Given the description of an element on the screen output the (x, y) to click on. 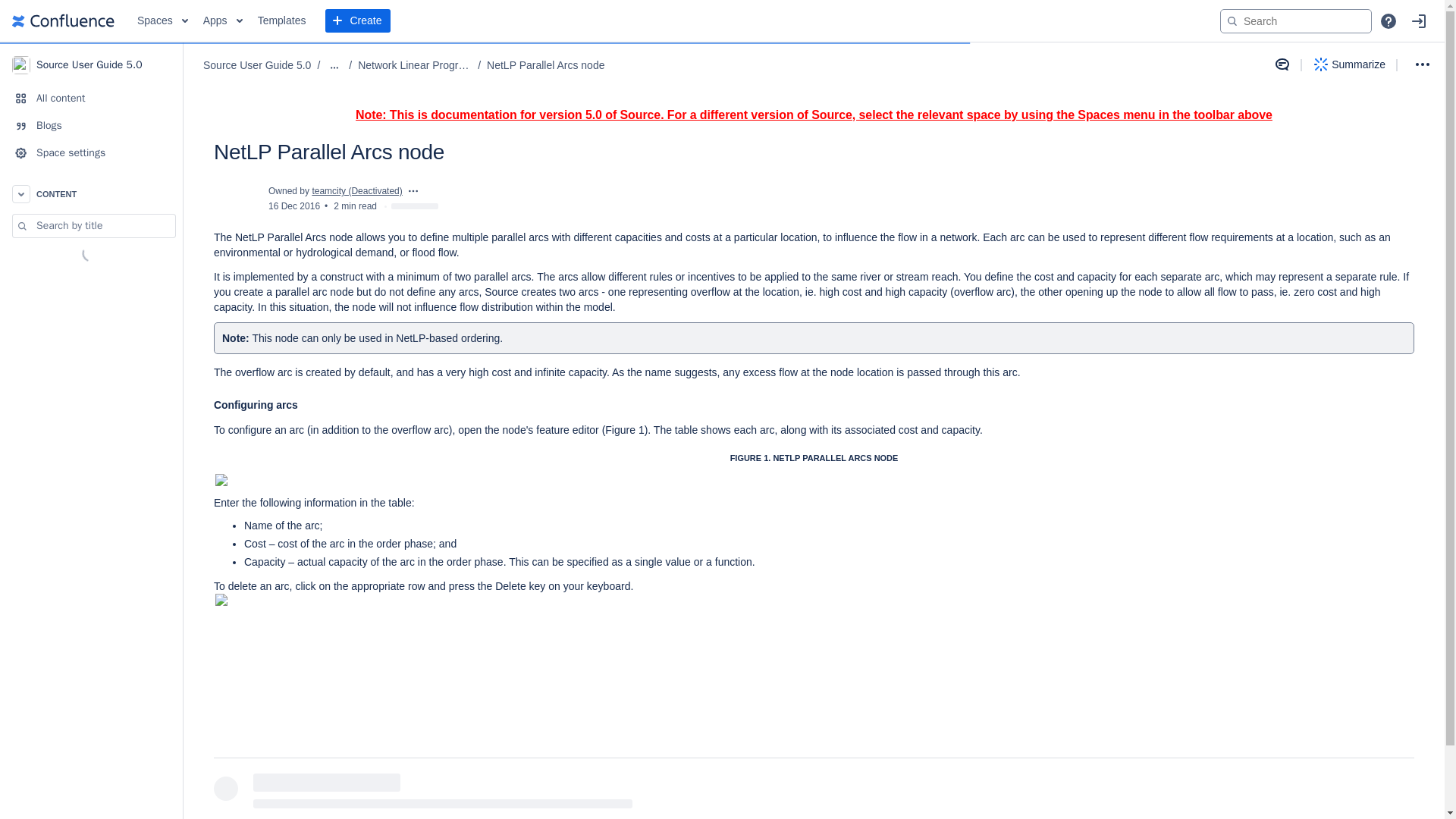
Apps (222, 21)
Templates (282, 21)
Source User Guide 5.0 (257, 64)
Summarize (1349, 64)
Blogs (90, 125)
All content (90, 98)
NetLP Parallel Arcs node (545, 64)
CONTENT (90, 194)
Network Linear Programming (414, 64)
Spaces (162, 21)
Create (357, 21)
Source User Guide 5.0 (90, 64)
Space settings (90, 153)
